Given the description of an element on the screen output the (x, y) to click on. 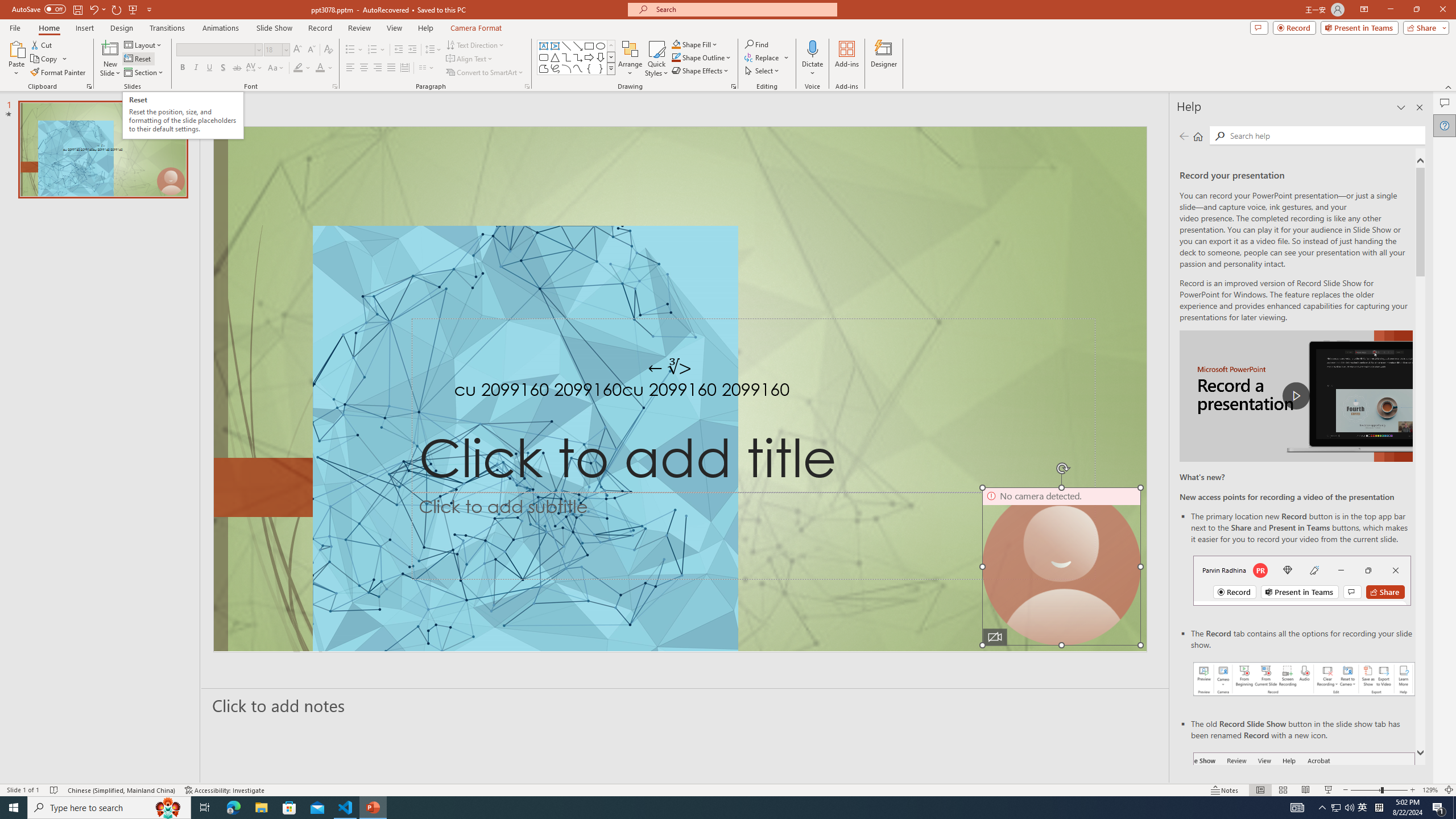
Cut (42, 44)
Bold (182, 67)
Title TextBox (753, 405)
Text Direction (476, 44)
Find... (756, 44)
Increase Font Size (297, 49)
Paste (16, 58)
Arc (566, 68)
Paragraph... (526, 85)
Character Spacing (254, 67)
Row up (611, 45)
Font Color Red (320, 67)
